Given the description of an element on the screen output the (x, y) to click on. 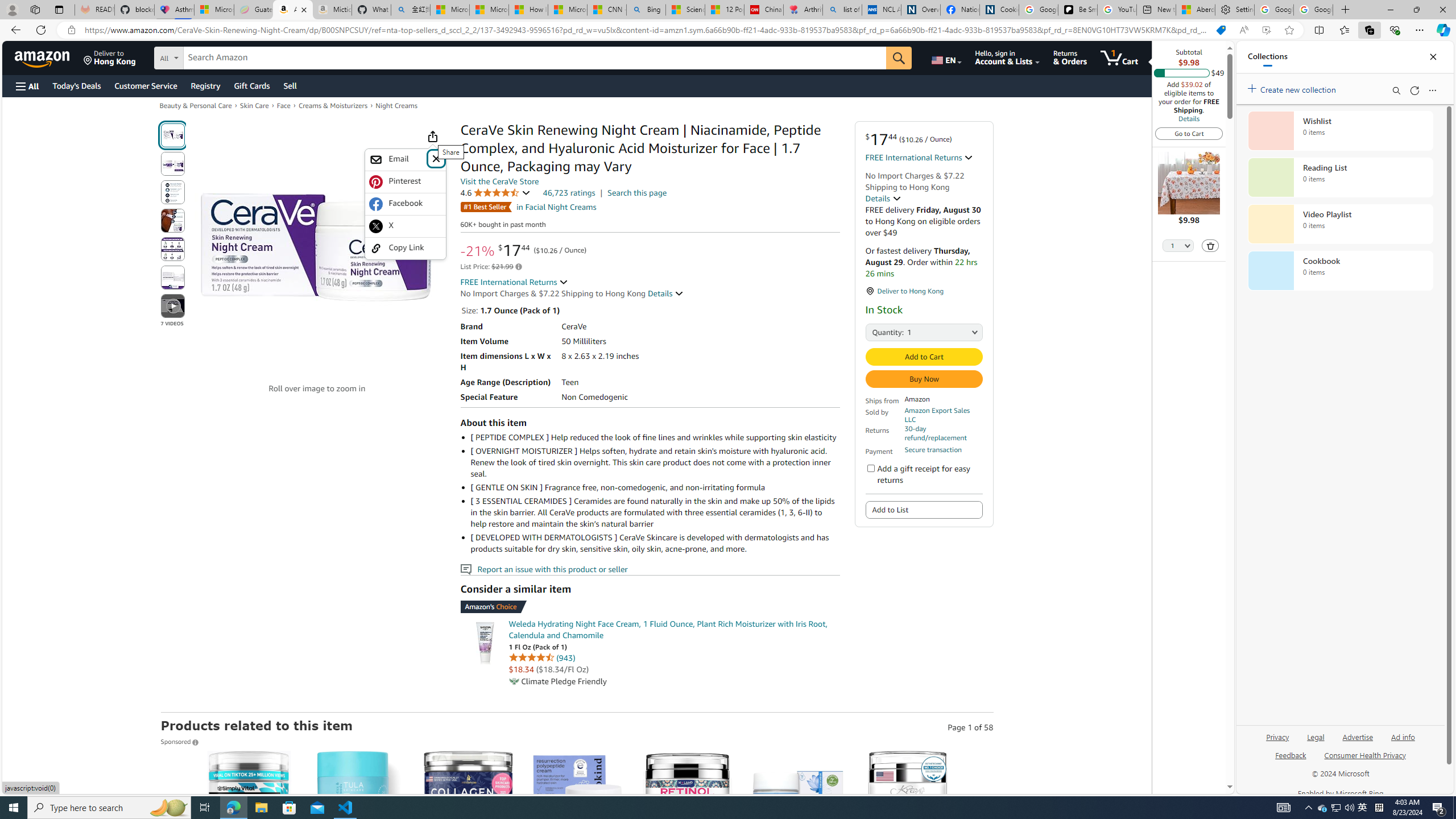
Pinterest (405, 181)
More options menu (1432, 90)
Close Share Popup (435, 158)
Cookies (999, 9)
